Given the description of an element on the screen output the (x, y) to click on. 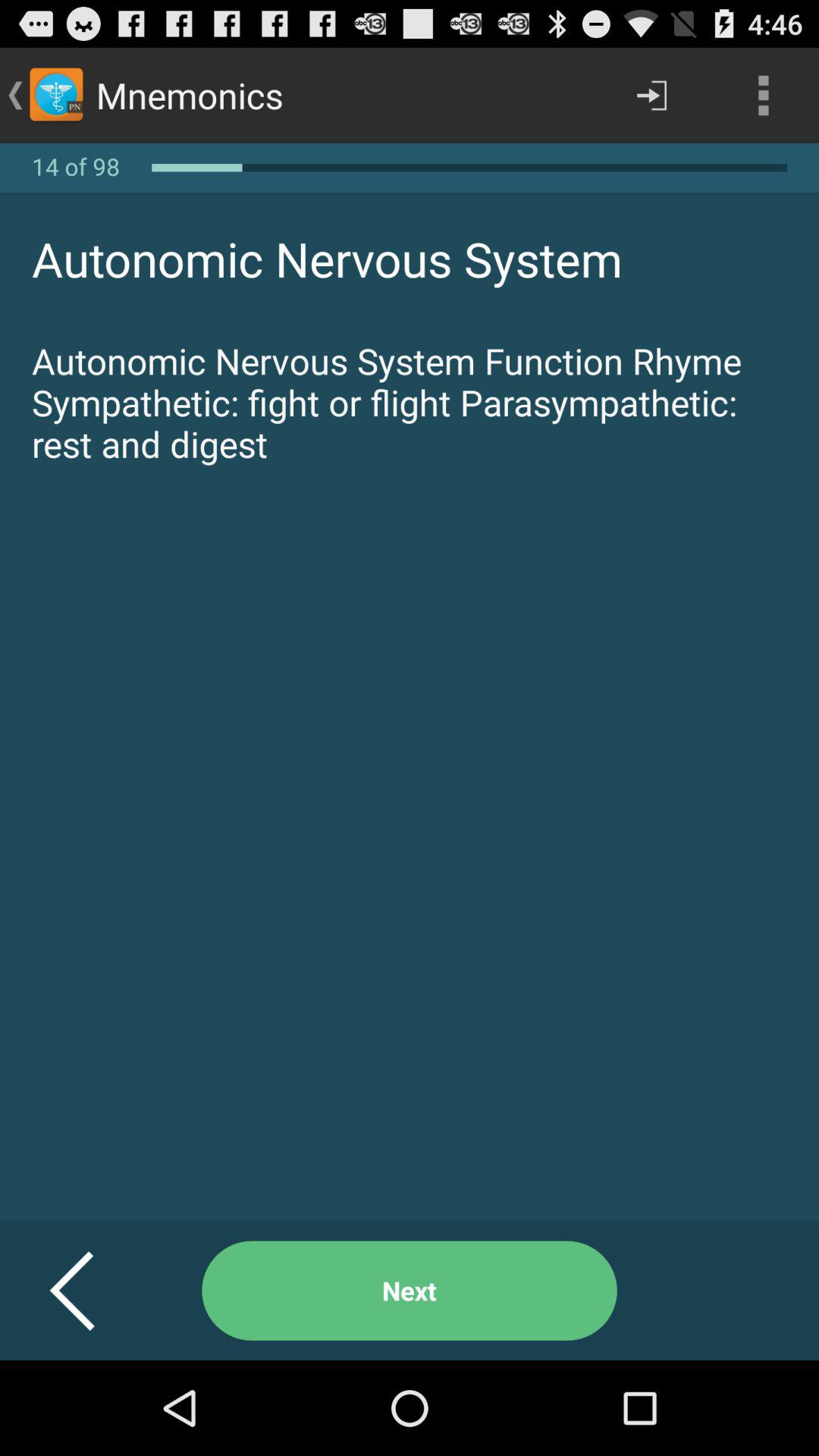
select icon at the bottom (409, 1290)
